Given the description of an element on the screen output the (x, y) to click on. 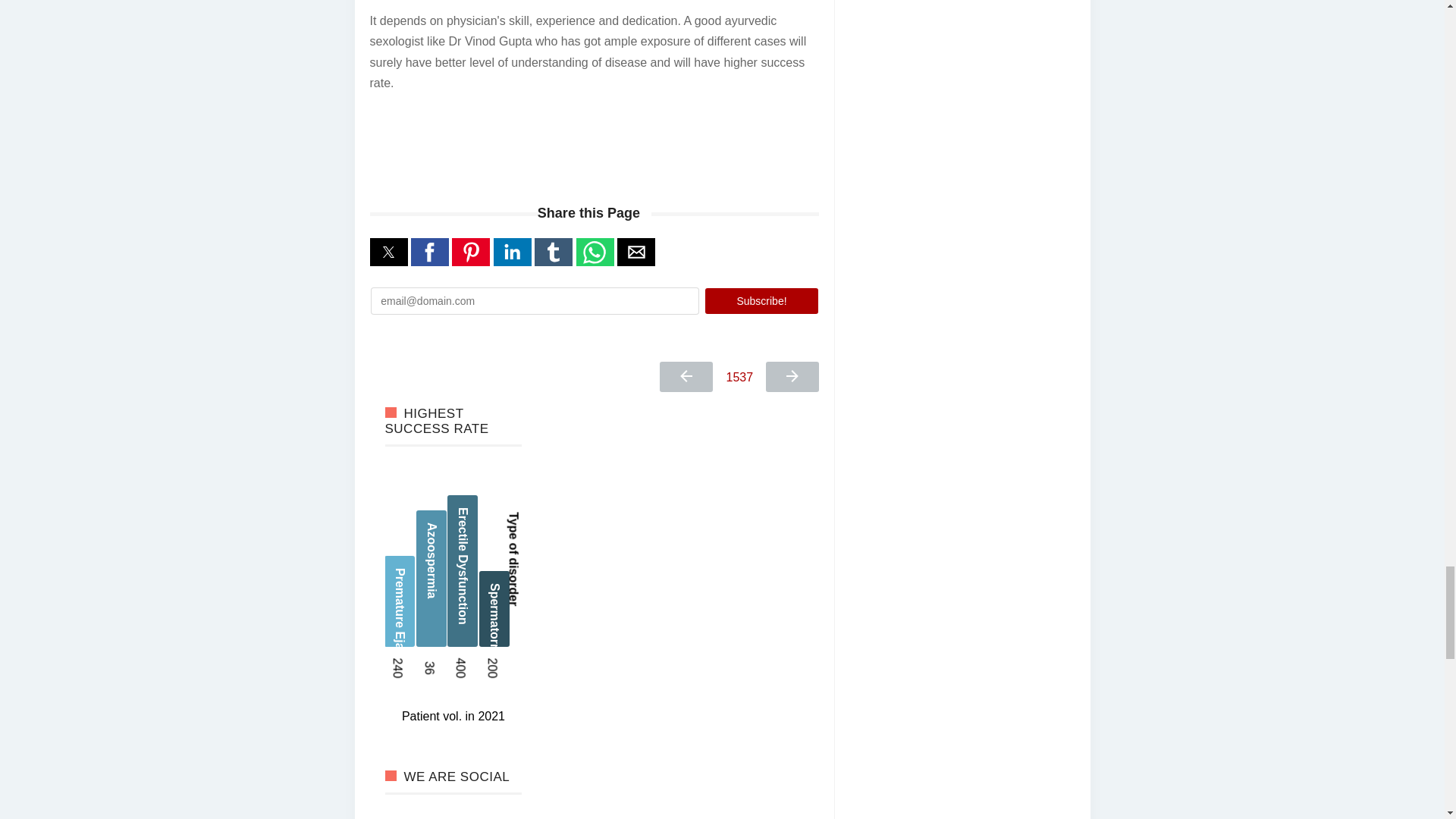
Older Posts (791, 376)
1537 (740, 377)
Subscribe! (760, 300)
Subscribe! (760, 300)
